Given the description of an element on the screen output the (x, y) to click on. 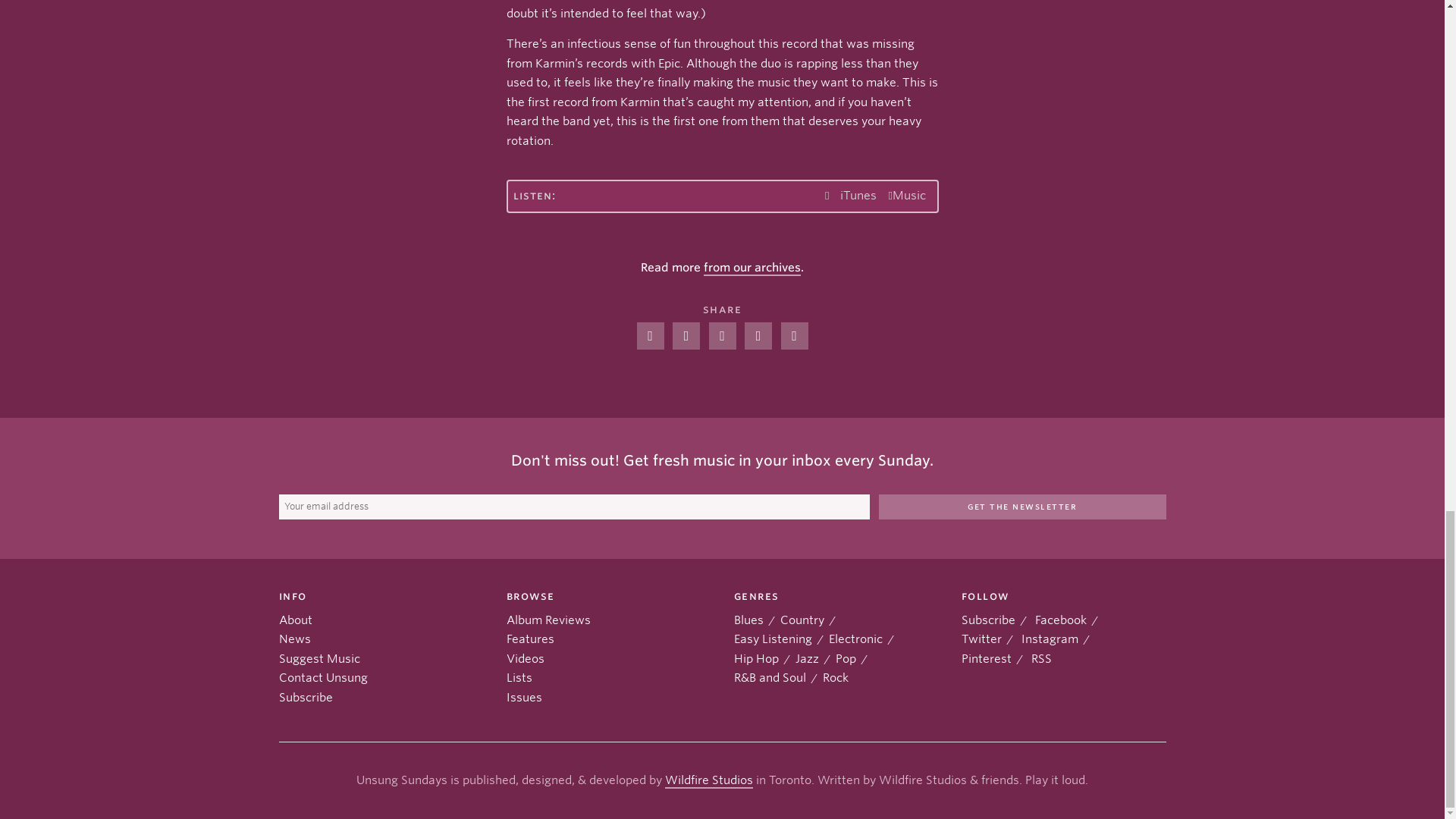
News (295, 639)
About (296, 620)
Album Reviews (548, 620)
View all posts in Pop (845, 658)
Electronic (855, 639)
Easy Listening (772, 639)
Jazz (806, 658)
View all posts in Hip Hop (755, 658)
View all posts in Blues (747, 620)
Share on Facebook (650, 335)
